Given the description of an element on the screen output the (x, y) to click on. 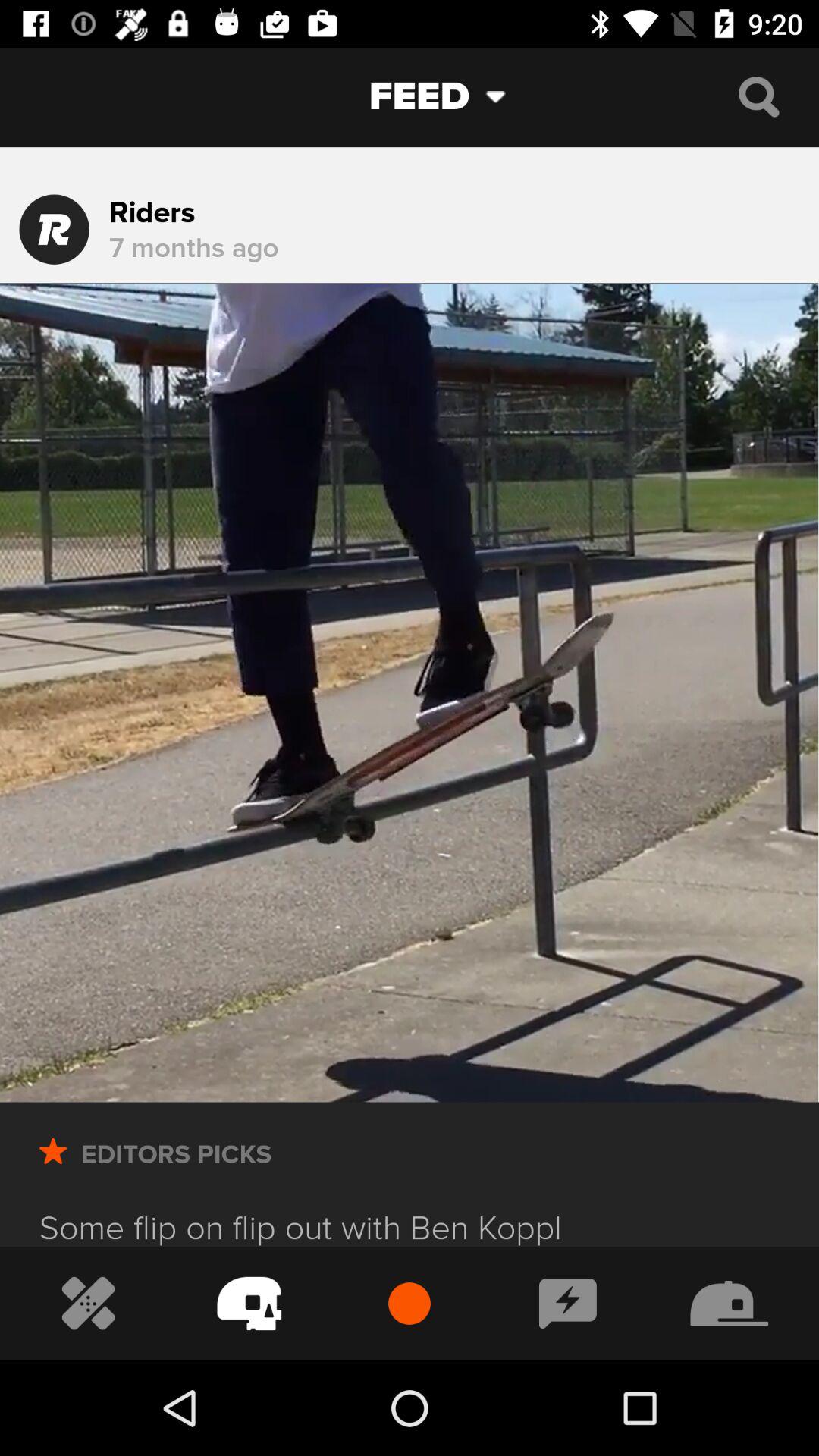
add caption (567, 1303)
